Given the description of an element on the screen output the (x, y) to click on. 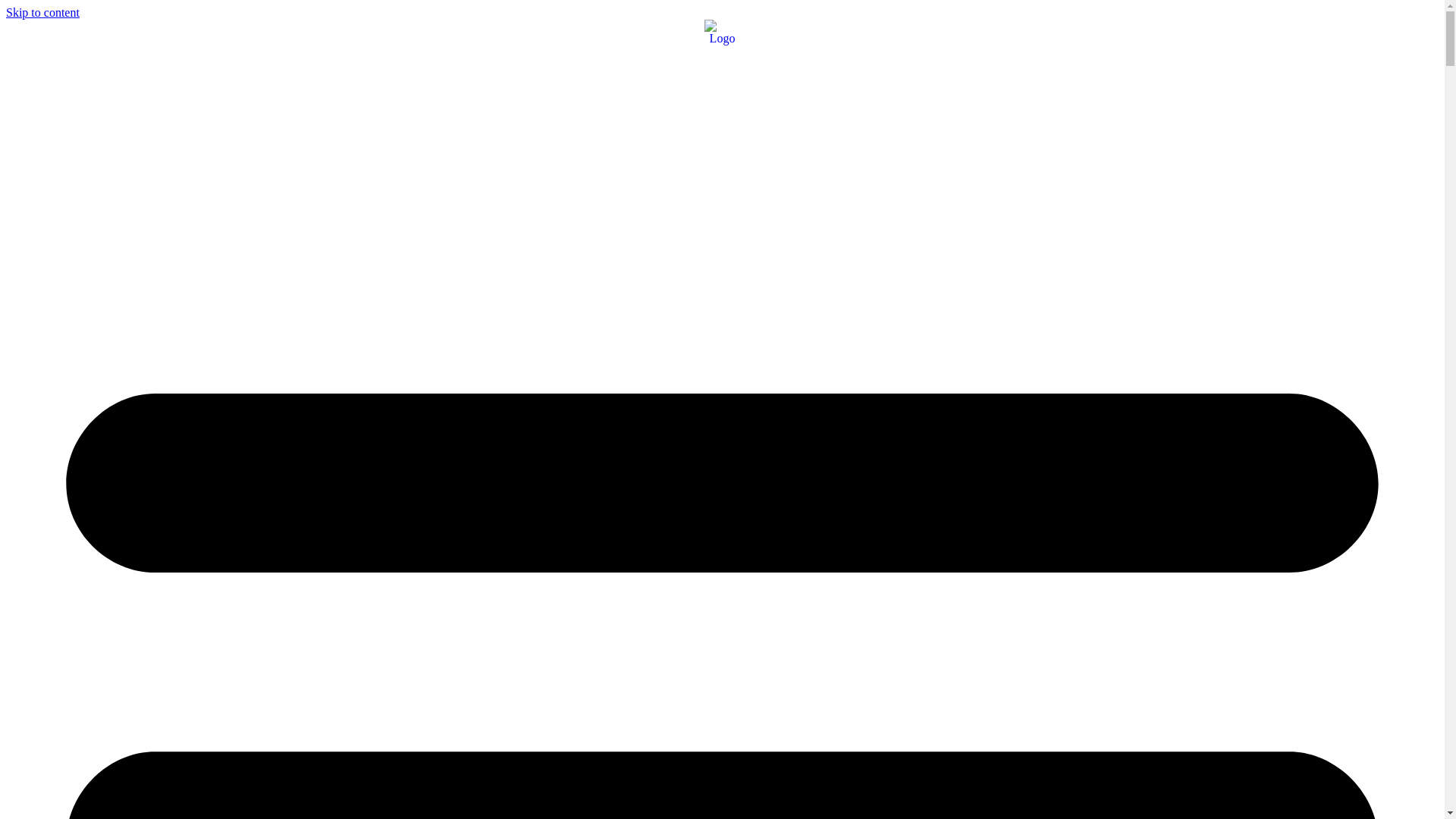
Skip to content Element type: text (42, 12)
